Given the description of an element on the screen output the (x, y) to click on. 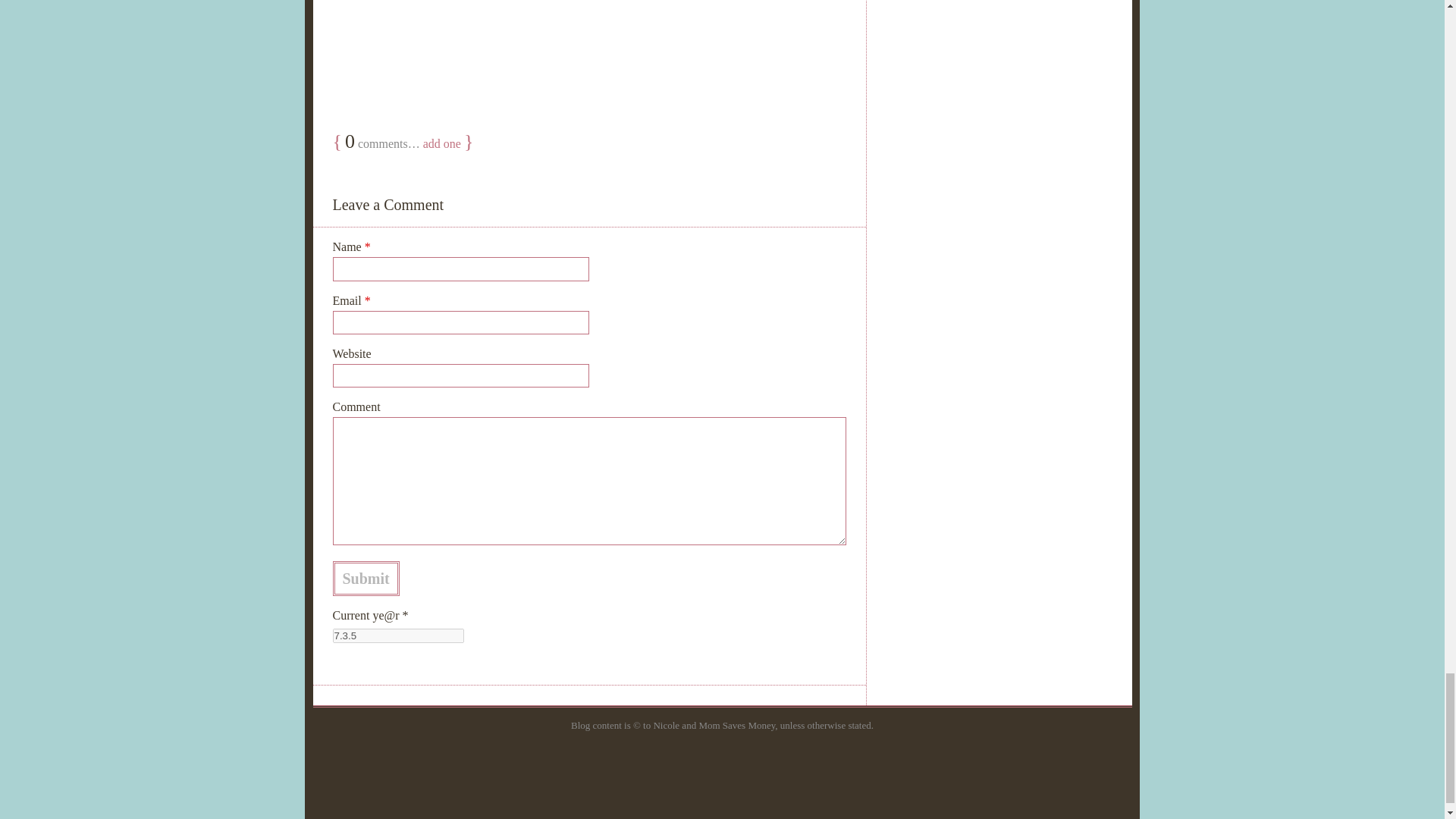
7.3.5 (397, 635)
add one (442, 143)
Submit (364, 578)
Submit (364, 578)
